Given the description of an element on the screen output the (x, y) to click on. 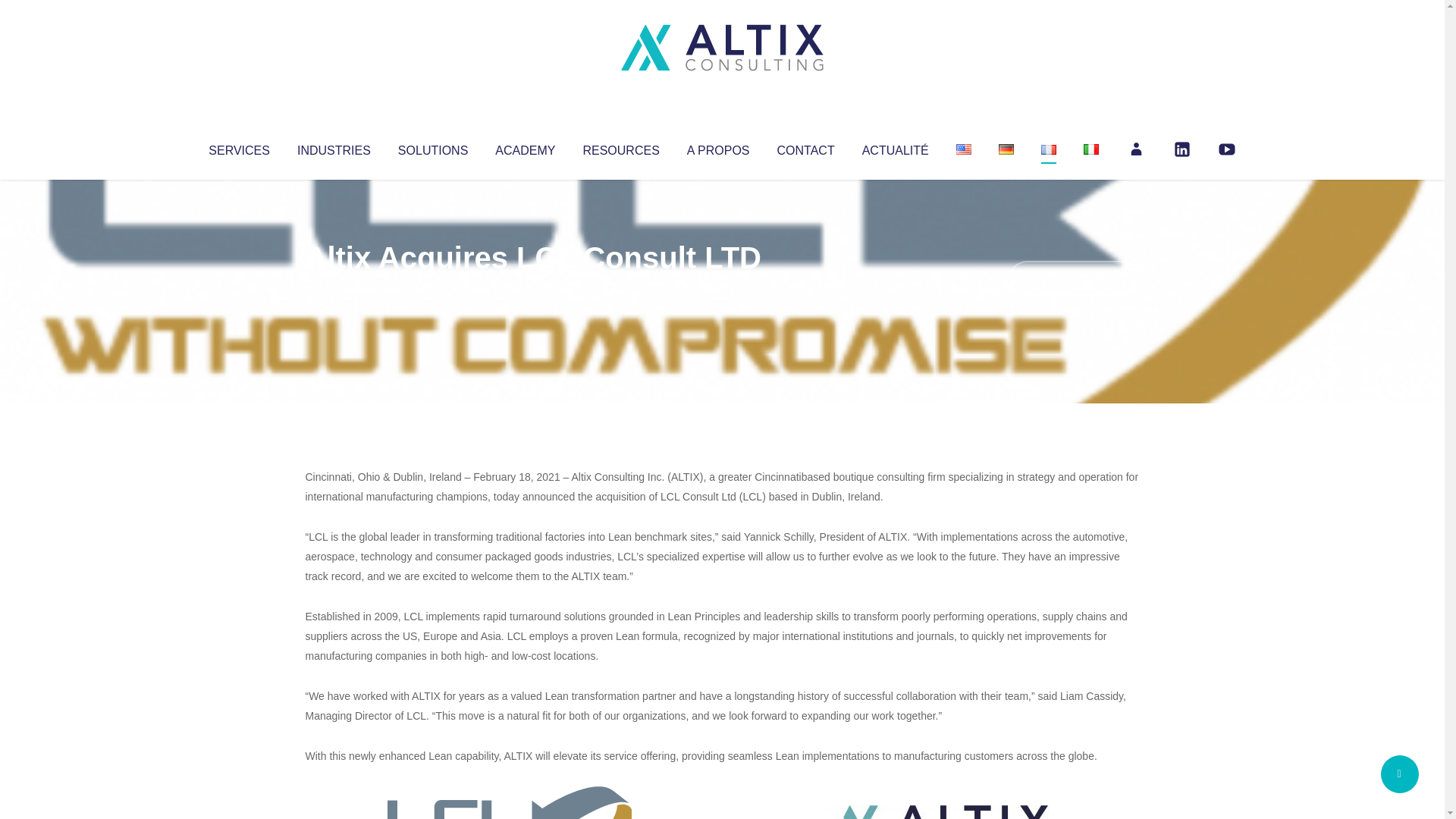
Uncategorized (530, 287)
A PROPOS (718, 146)
INDUSTRIES (334, 146)
RESOURCES (620, 146)
SERVICES (238, 146)
No Comments (1073, 278)
SOLUTIONS (432, 146)
Altix (333, 287)
Articles par Altix (333, 287)
ACADEMY (524, 146)
